Given the description of an element on the screen output the (x, y) to click on. 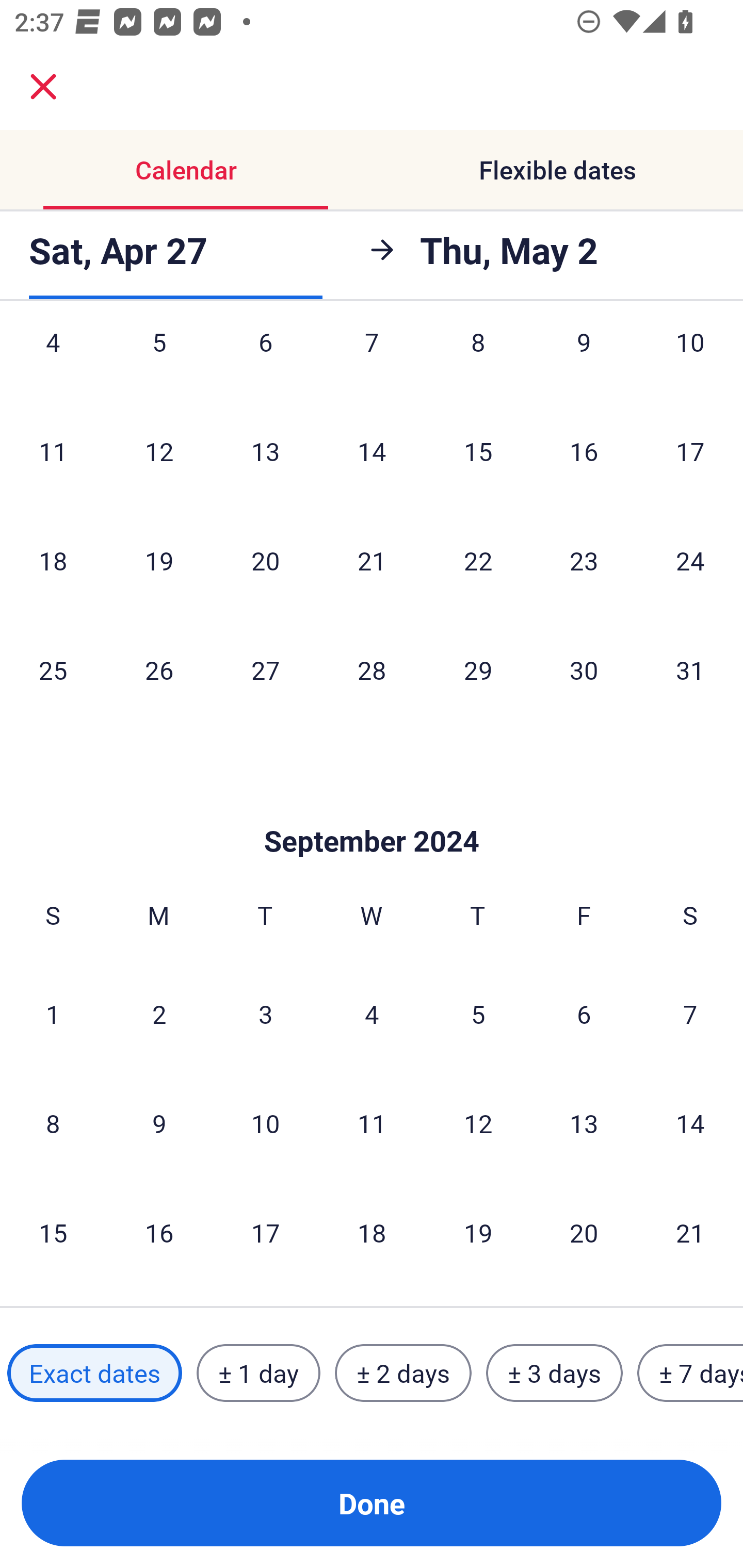
close. (43, 86)
Flexible dates (557, 170)
4 Sunday, August 4, 2024 (53, 362)
5 Monday, August 5, 2024 (159, 362)
6 Tuesday, August 6, 2024 (265, 362)
7 Wednesday, August 7, 2024 (371, 362)
8 Thursday, August 8, 2024 (477, 362)
9 Friday, August 9, 2024 (584, 362)
10 Saturday, August 10, 2024 (690, 362)
11 Sunday, August 11, 2024 (53, 450)
12 Monday, August 12, 2024 (159, 450)
13 Tuesday, August 13, 2024 (265, 450)
14 Wednesday, August 14, 2024 (371, 450)
15 Thursday, August 15, 2024 (477, 450)
16 Friday, August 16, 2024 (584, 450)
17 Saturday, August 17, 2024 (690, 450)
18 Sunday, August 18, 2024 (53, 560)
19 Monday, August 19, 2024 (159, 560)
20 Tuesday, August 20, 2024 (265, 560)
21 Wednesday, August 21, 2024 (371, 560)
22 Thursday, August 22, 2024 (477, 560)
23 Friday, August 23, 2024 (584, 560)
24 Saturday, August 24, 2024 (690, 560)
25 Sunday, August 25, 2024 (53, 669)
26 Monday, August 26, 2024 (159, 669)
27 Tuesday, August 27, 2024 (265, 669)
28 Wednesday, August 28, 2024 (371, 669)
29 Thursday, August 29, 2024 (477, 669)
30 Friday, August 30, 2024 (584, 669)
31 Saturday, August 31, 2024 (690, 669)
Skip to Done (371, 809)
1 Sunday, September 1, 2024 (53, 1013)
2 Monday, September 2, 2024 (159, 1013)
3 Tuesday, September 3, 2024 (265, 1013)
4 Wednesday, September 4, 2024 (371, 1013)
5 Thursday, September 5, 2024 (477, 1013)
6 Friday, September 6, 2024 (584, 1013)
7 Saturday, September 7, 2024 (690, 1013)
8 Sunday, September 8, 2024 (53, 1123)
9 Monday, September 9, 2024 (159, 1123)
10 Tuesday, September 10, 2024 (265, 1123)
11 Wednesday, September 11, 2024 (371, 1123)
12 Thursday, September 12, 2024 (477, 1123)
13 Friday, September 13, 2024 (584, 1123)
14 Saturday, September 14, 2024 (690, 1123)
15 Sunday, September 15, 2024 (53, 1232)
16 Monday, September 16, 2024 (159, 1232)
17 Tuesday, September 17, 2024 (265, 1232)
18 Wednesday, September 18, 2024 (371, 1232)
19 Thursday, September 19, 2024 (477, 1232)
